Given the description of an element on the screen output the (x, y) to click on. 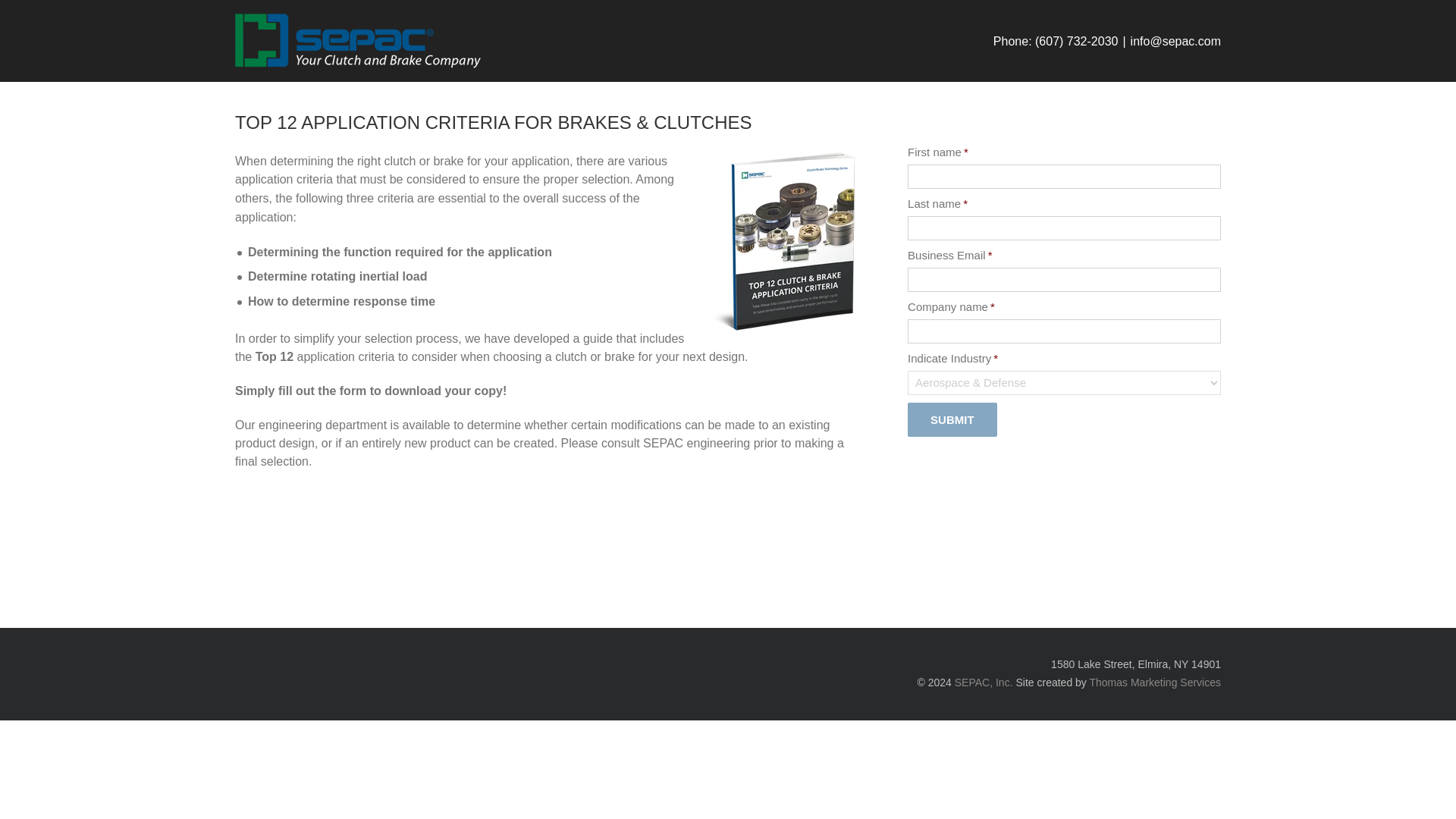
Thomas Marketing Services (1155, 682)
Submit (951, 419)
Submit (951, 419)
SEPAC, Inc. (360, 41)
SEPAC, Inc. (984, 682)
